Given the description of an element on the screen output the (x, y) to click on. 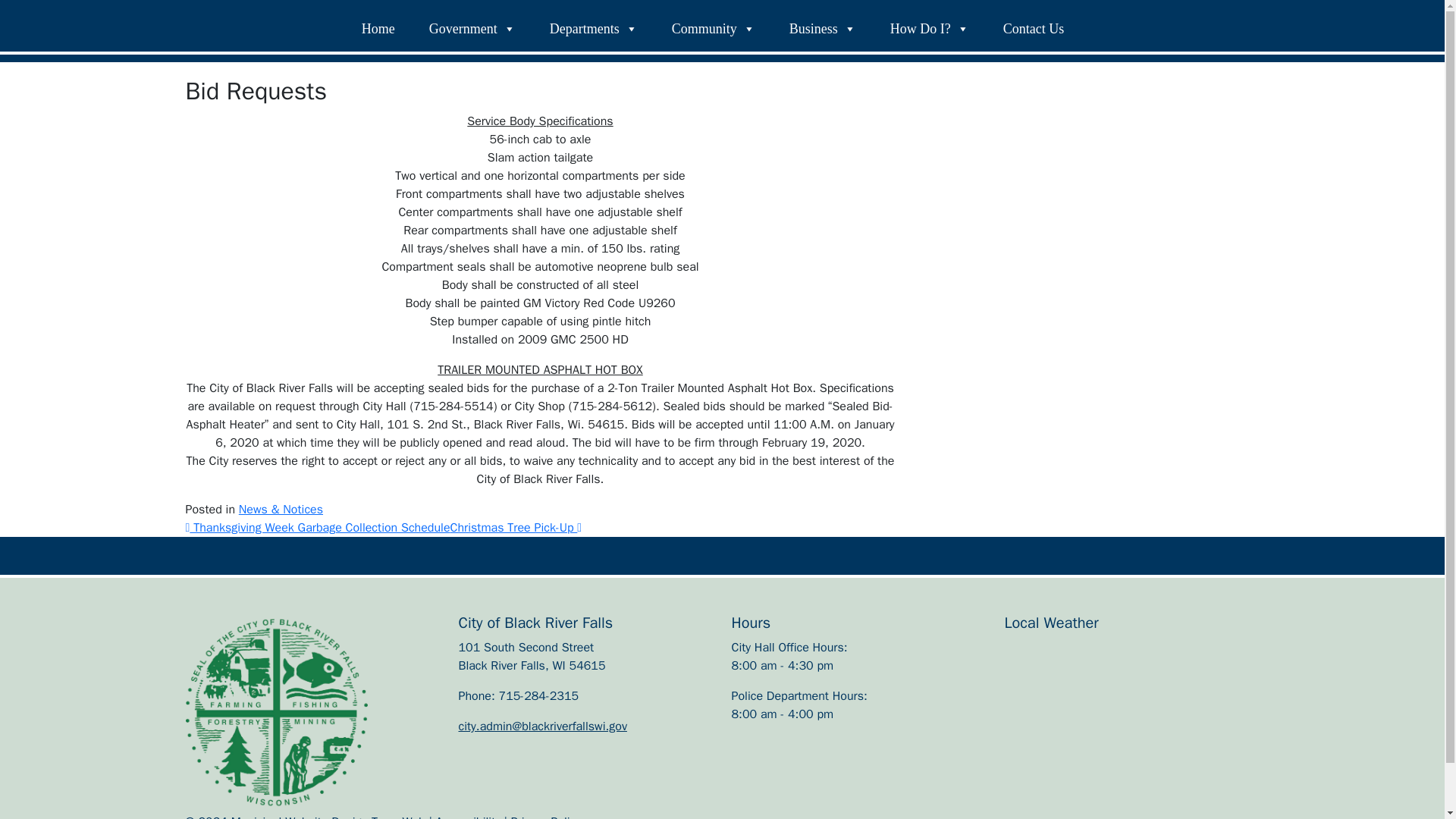
Home (378, 28)
Government (472, 28)
